Given the description of an element on the screen output the (x, y) to click on. 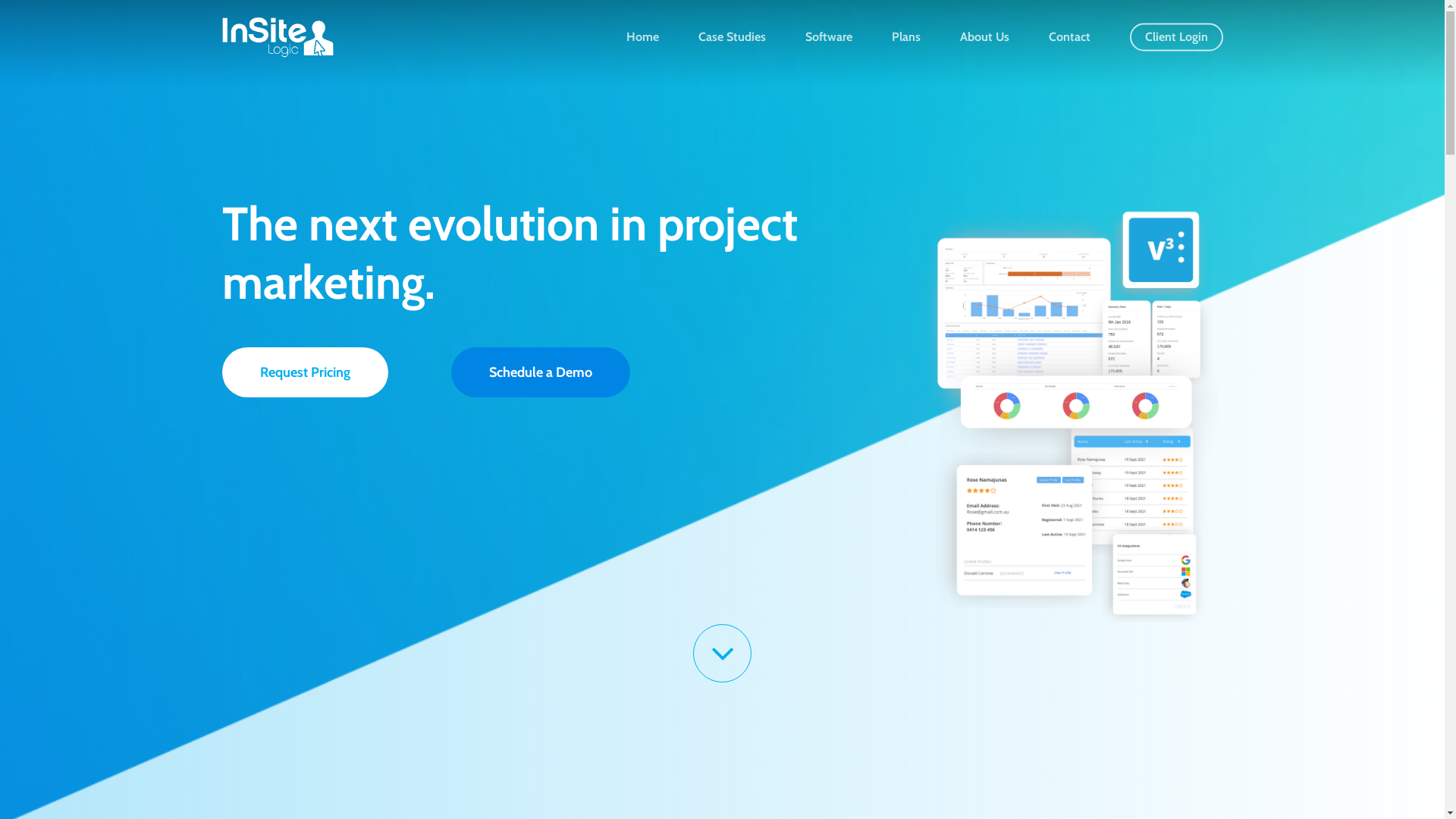
Software Element type: text (828, 36)
Request Pricing Element type: text (304, 372)
Contact Element type: text (1068, 36)
Plans Element type: text (905, 36)
Schedule a Demo Element type: text (540, 372)
Client Login Element type: text (1176, 36)
Home Element type: text (642, 36)
Case Studies Element type: text (731, 36)
About Us Element type: text (984, 36)
